Given the description of an element on the screen output the (x, y) to click on. 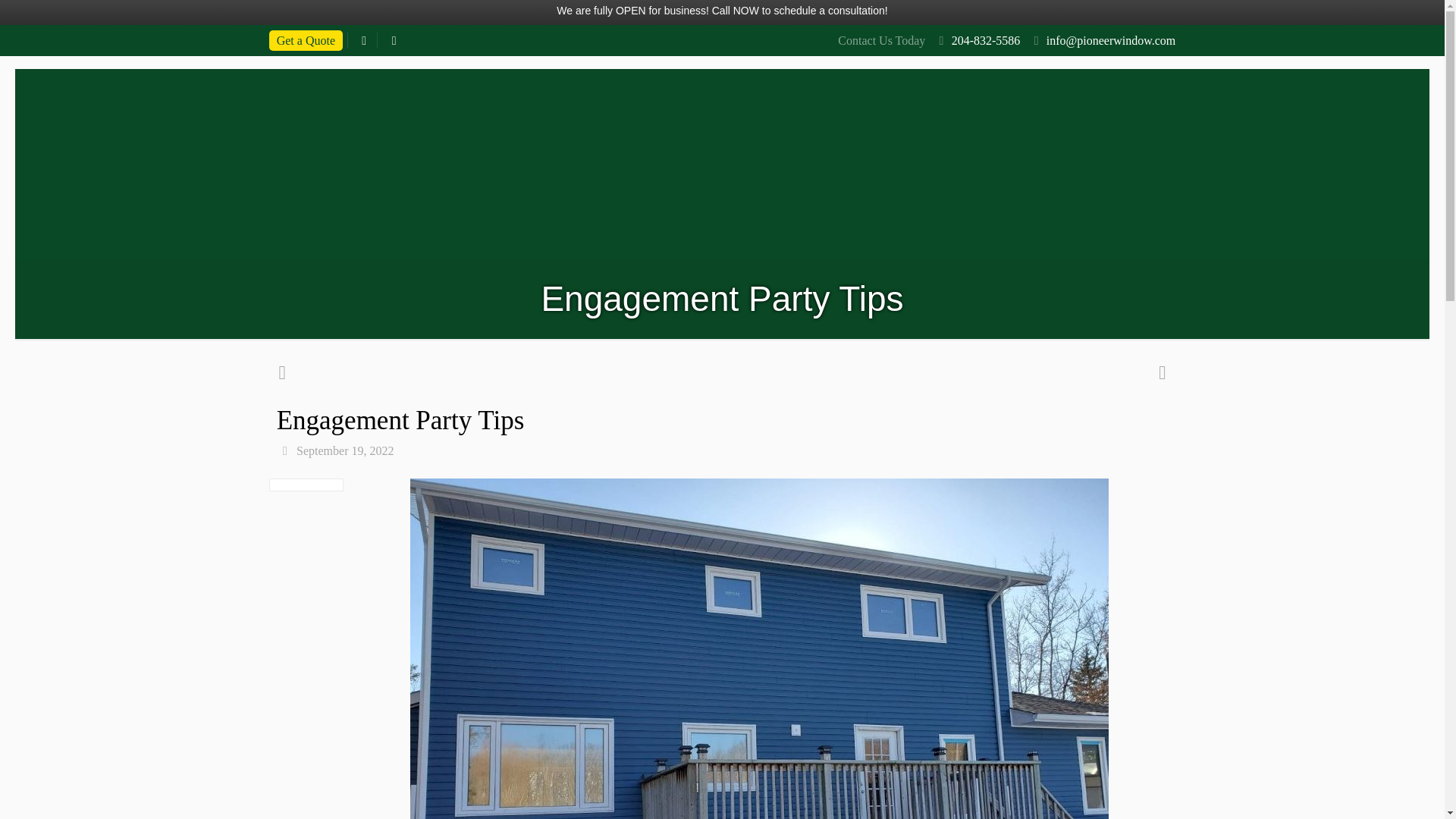
204-832-5586 (986, 40)
Get a Quote (305, 40)
